Given the description of an element on the screen output the (x, y) to click on. 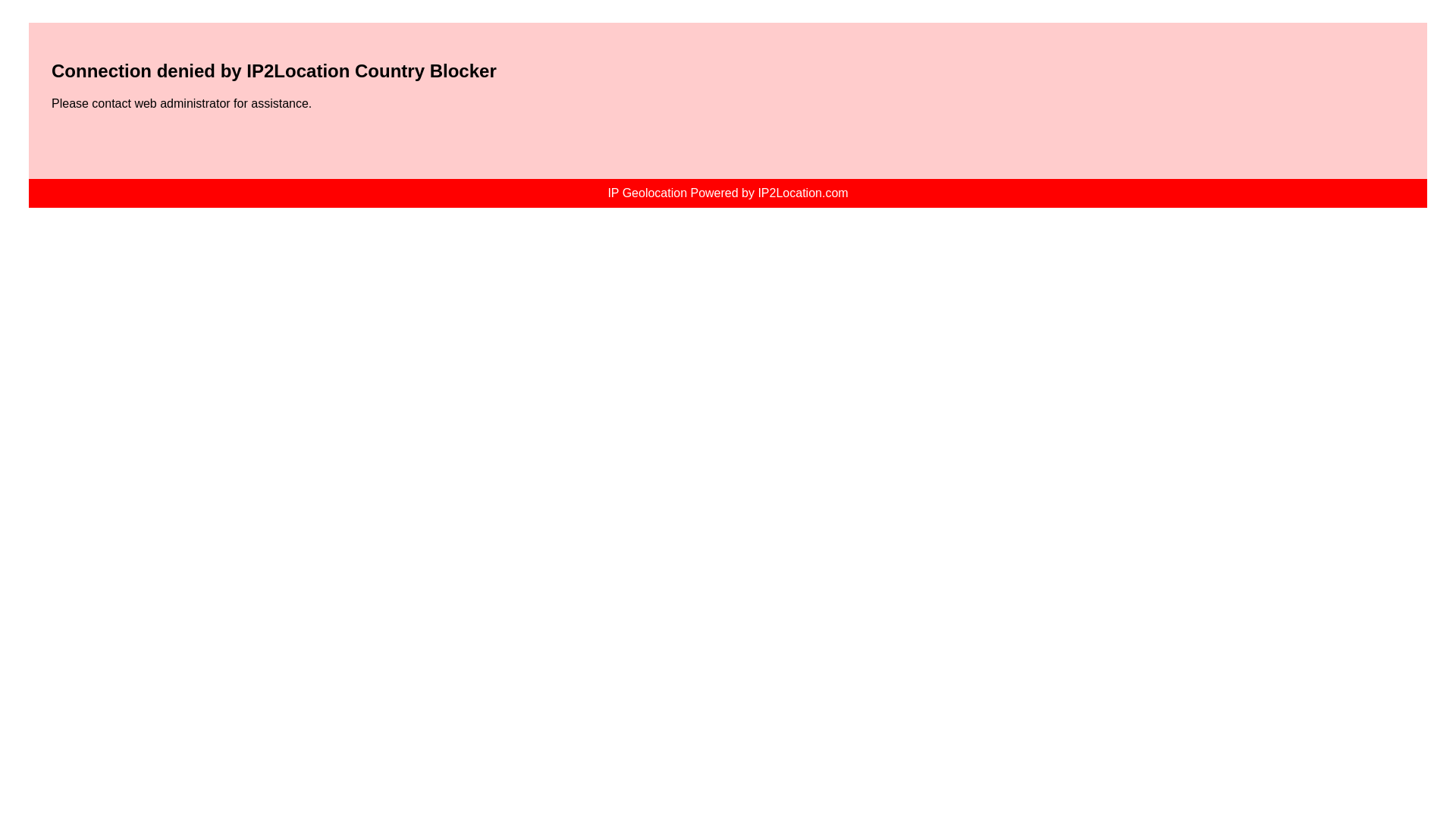
IP Geolocation Powered by IP2Location.com (727, 192)
